Given the description of an element on the screen output the (x, y) to click on. 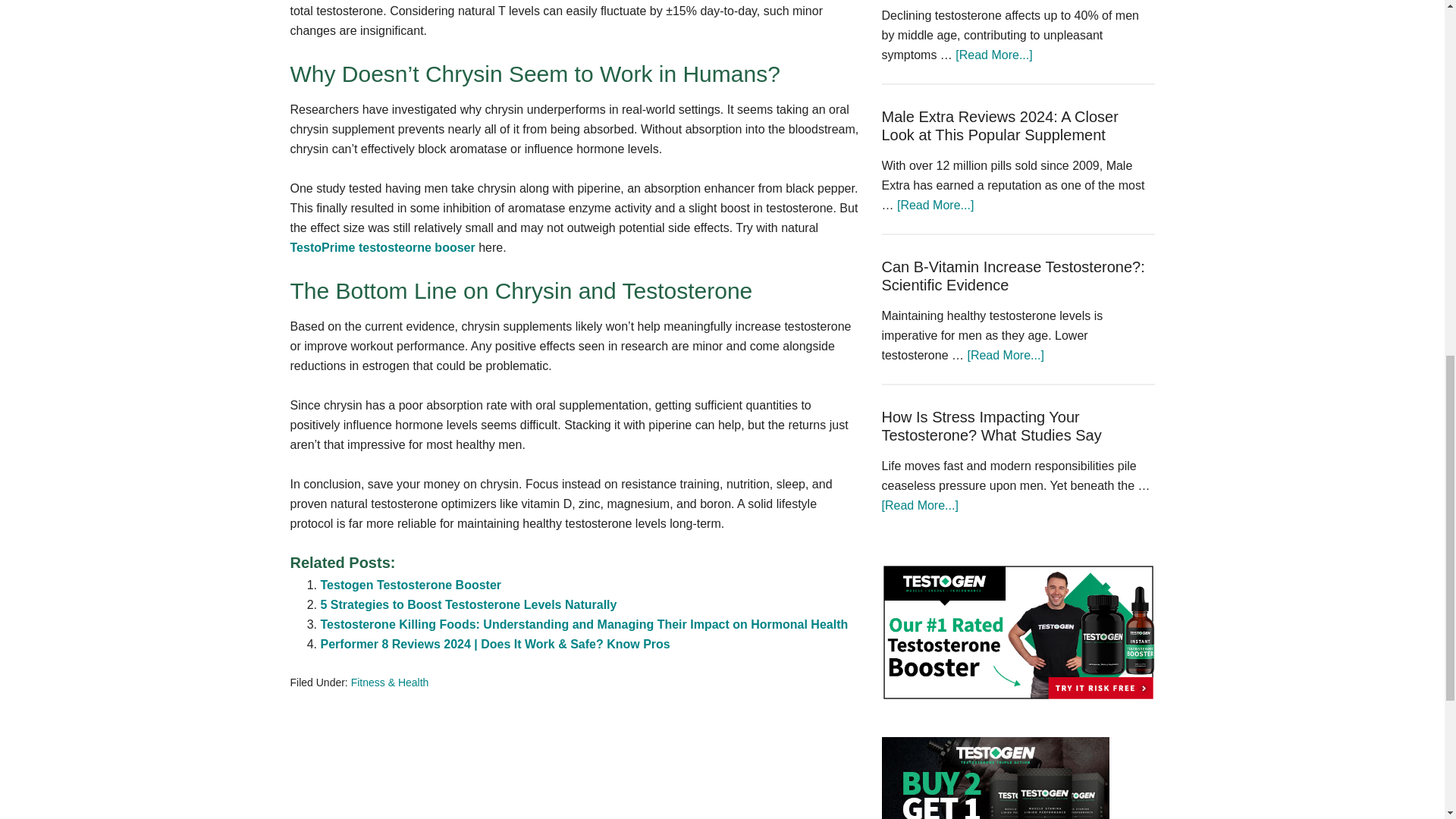
How Is Stress Impacting Your Testosterone? What Studies Say (990, 425)
Can B-Vitamin Increase Testosterone?: Scientific Evidence (1012, 275)
Testogen Testosterone Booster (410, 584)
Testogen Testosterone Booster (410, 584)
TestoPrime testosteorne booser (381, 246)
5 Strategies to Boost Testosterone Levels Naturally (467, 604)
5 Strategies to Boost Testosterone Levels Naturally (467, 604)
